Given the description of an element on the screen output the (x, y) to click on. 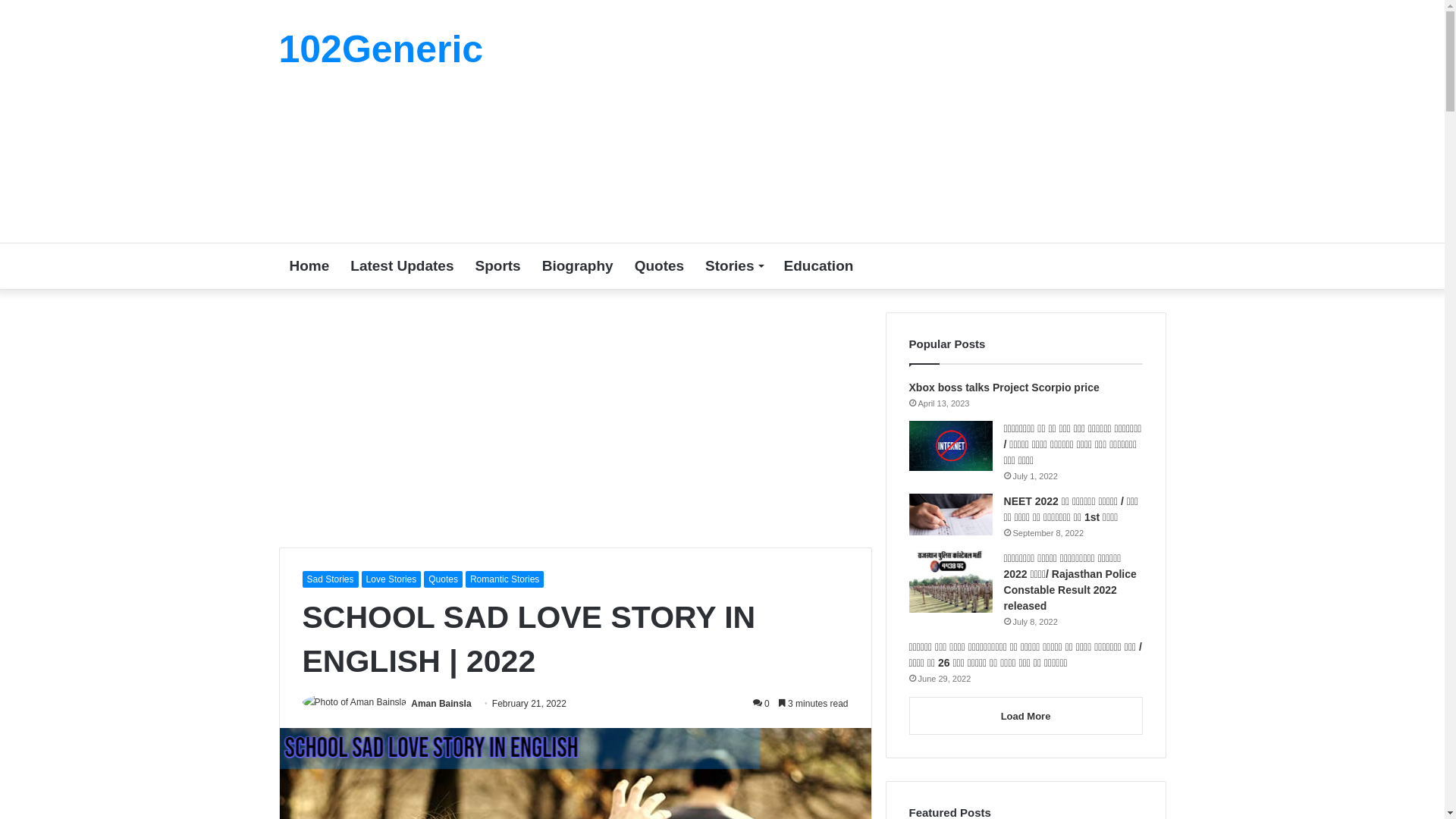
Romantic Stories Element type: text (504, 579)
Education Element type: text (818, 265)
Quotes Element type: text (659, 265)
Stories Element type: text (733, 265)
Sports Element type: text (497, 265)
Sad Stories Element type: text (329, 579)
Aman Bainsla Element type: text (440, 703)
Advertisement Element type: hover (575, 418)
102Generic Element type: text (381, 49)
Love Stories Element type: text (391, 579)
Load More Element type: text (1025, 715)
Latest Updates Element type: text (401, 265)
Home Element type: text (309, 265)
Quotes Element type: text (442, 579)
Advertisement Element type: hover (874, 121)
Xbox boss talks Project Scorpio price Element type: text (1004, 387)
Biography Element type: text (577, 265)
